Given the description of an element on the screen output the (x, y) to click on. 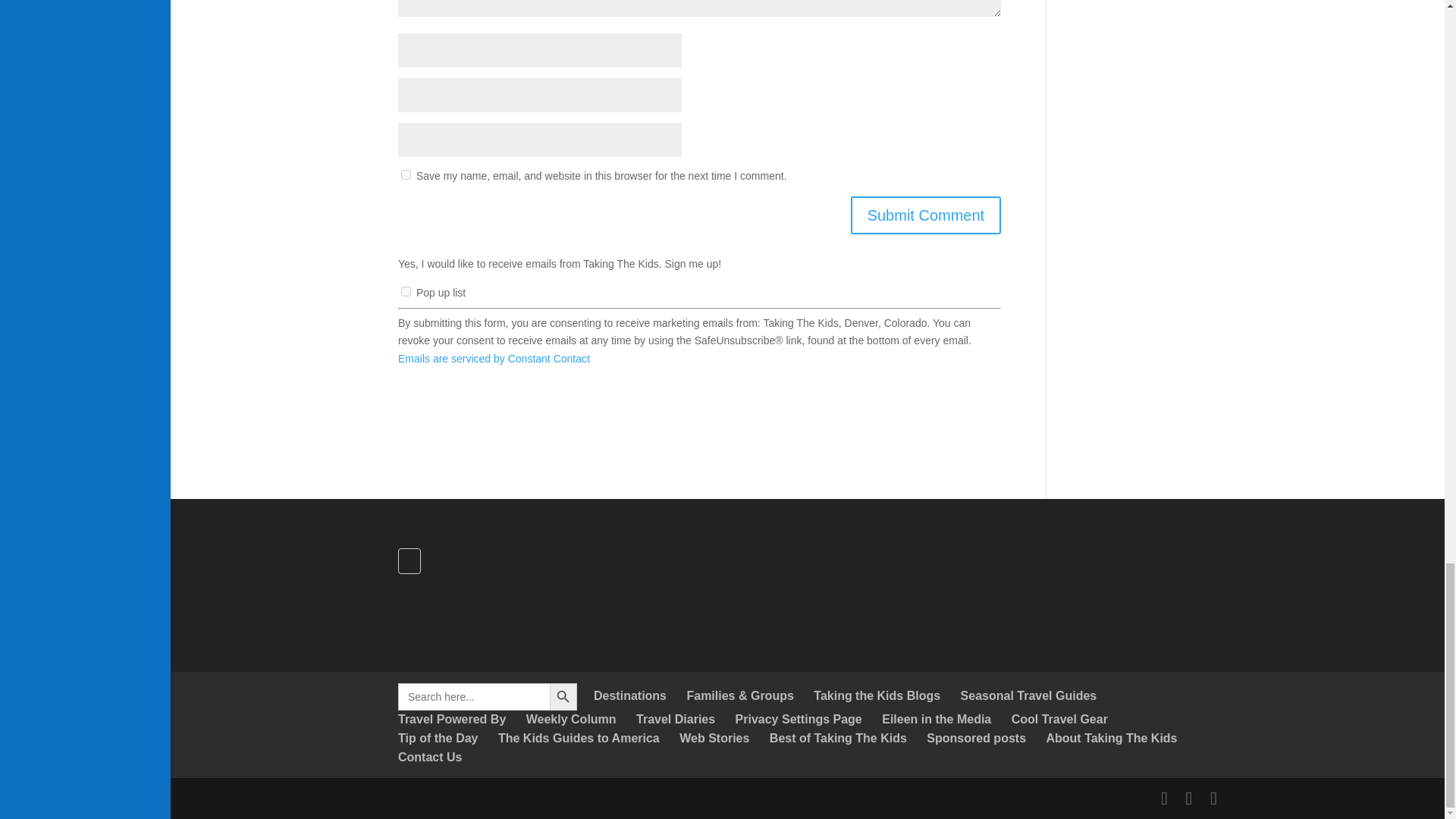
679276e2-a18b-11ec-9047-fa163ea6032f (405, 291)
Submit Comment (925, 215)
yes (405, 174)
